Given the description of an element on the screen output the (x, y) to click on. 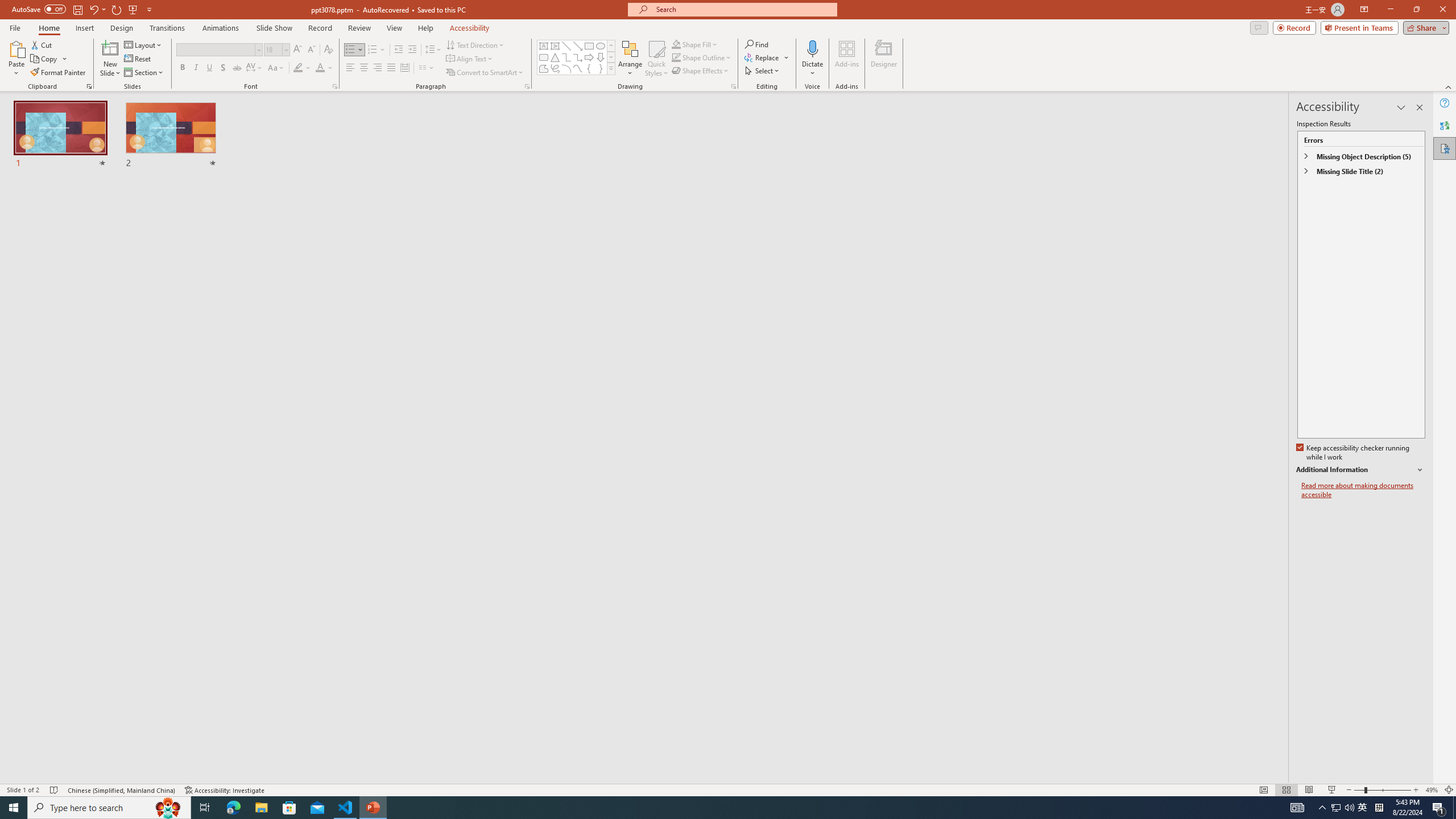
Read more about making documents accessible (1363, 489)
Keep accessibility checker running while I work (1353, 452)
